Given the description of an element on the screen output the (x, y) to click on. 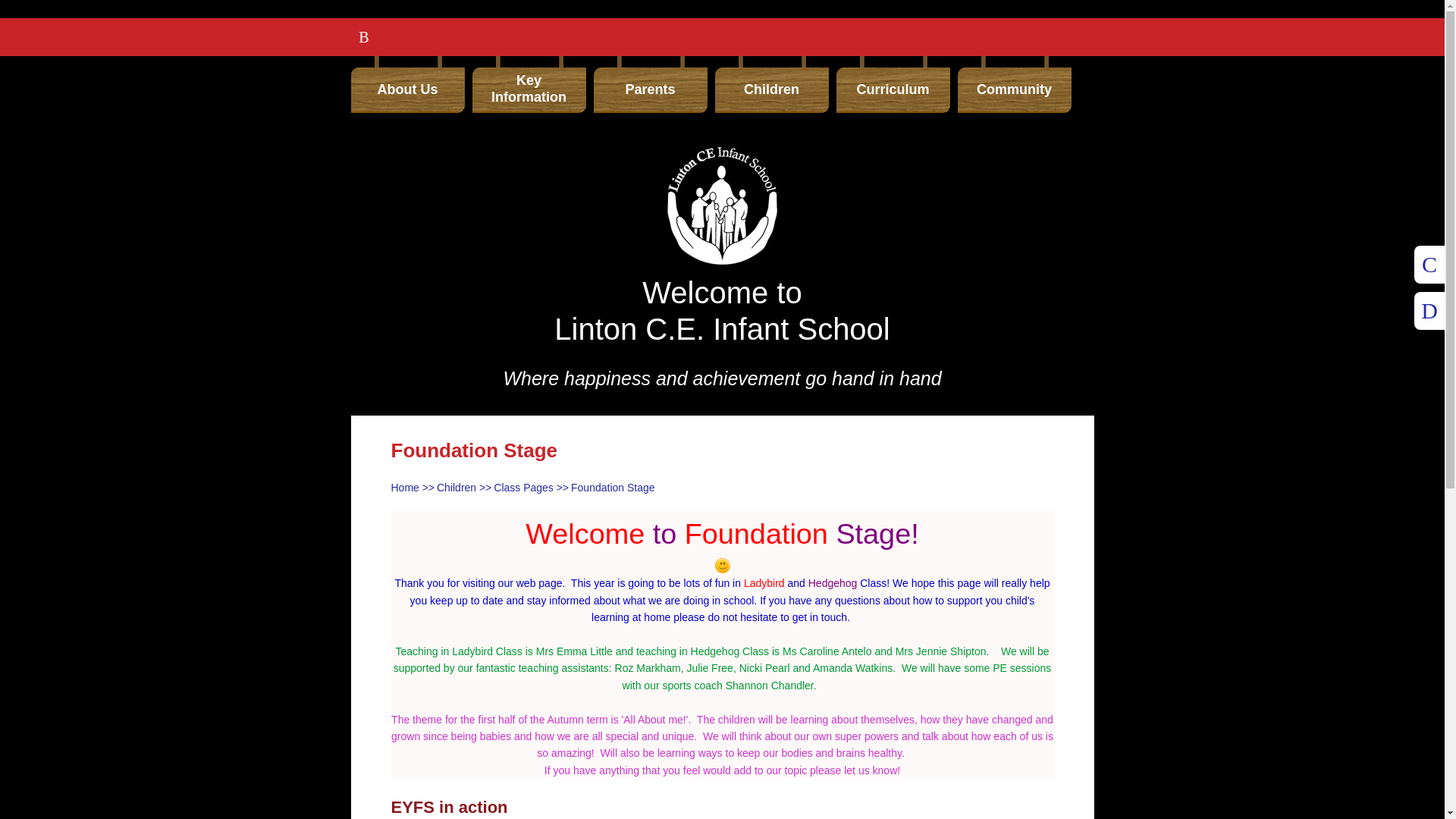
Home Page (721, 205)
About Us (407, 84)
Key Information (528, 84)
smiley (721, 565)
